Given the description of an element on the screen output the (x, y) to click on. 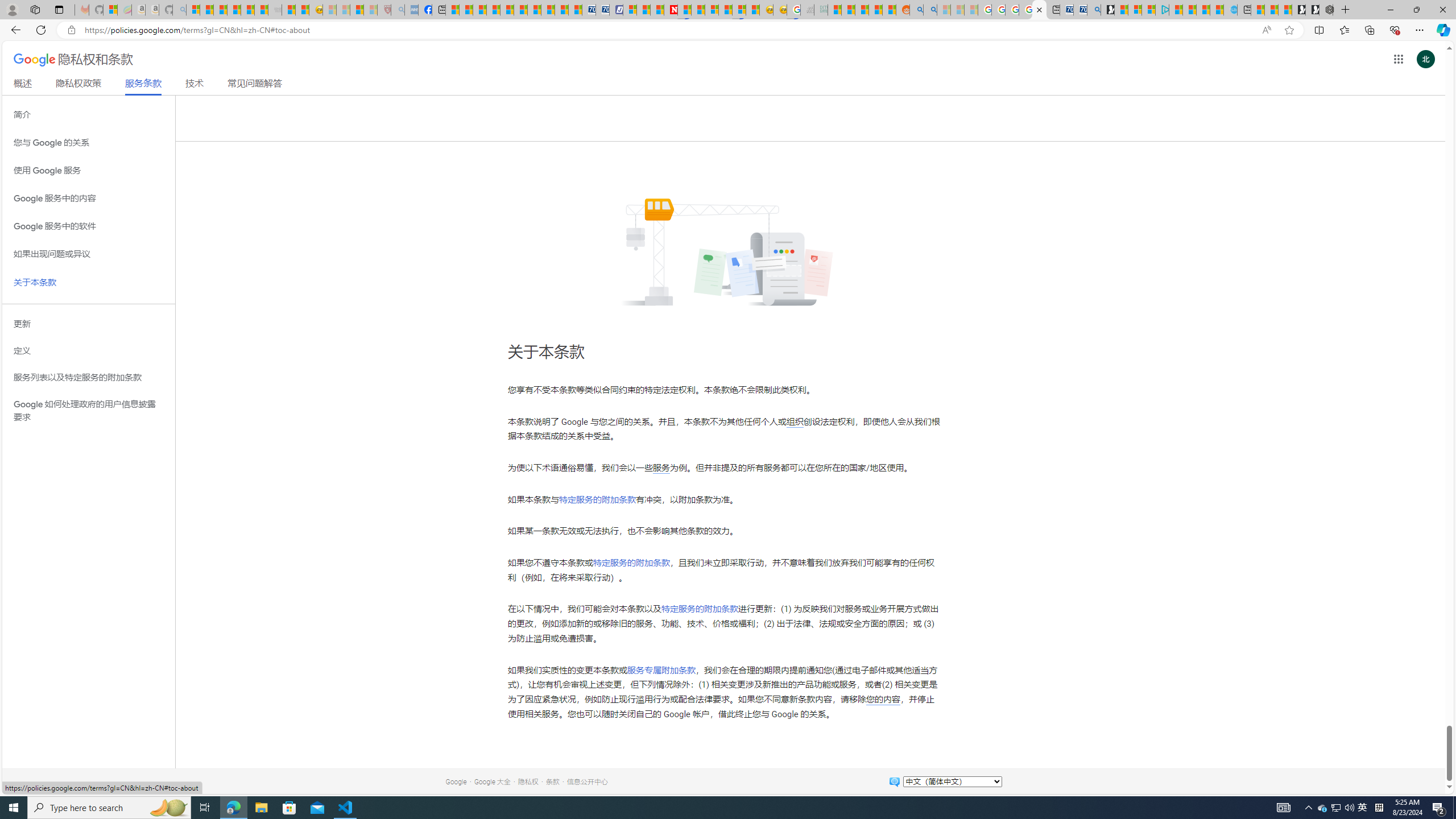
Climate Damage Becomes Too Severe To Reverse (493, 9)
